Given the description of an element on the screen output the (x, y) to click on. 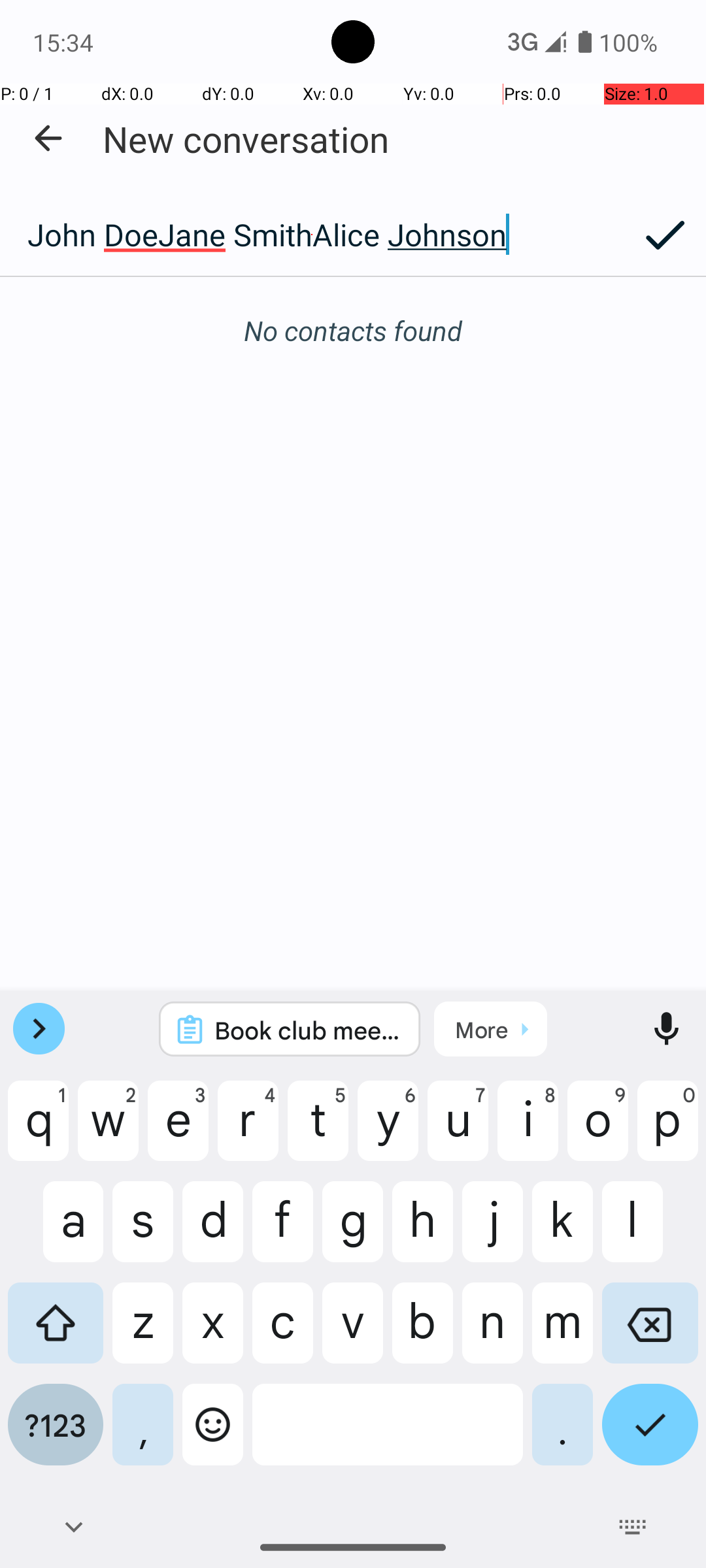
New conversation Element type: android.widget.TextView (245, 138)
John DoeJane SmithAlice Johnson Element type: android.widget.EditText (311, 234)
No contacts found Element type: android.widget.TextView (353, 329)
Book club meets next Tuesday to discuss '1984'. Element type: android.widget.TextView (306, 1029)
